Given the description of an element on the screen output the (x, y) to click on. 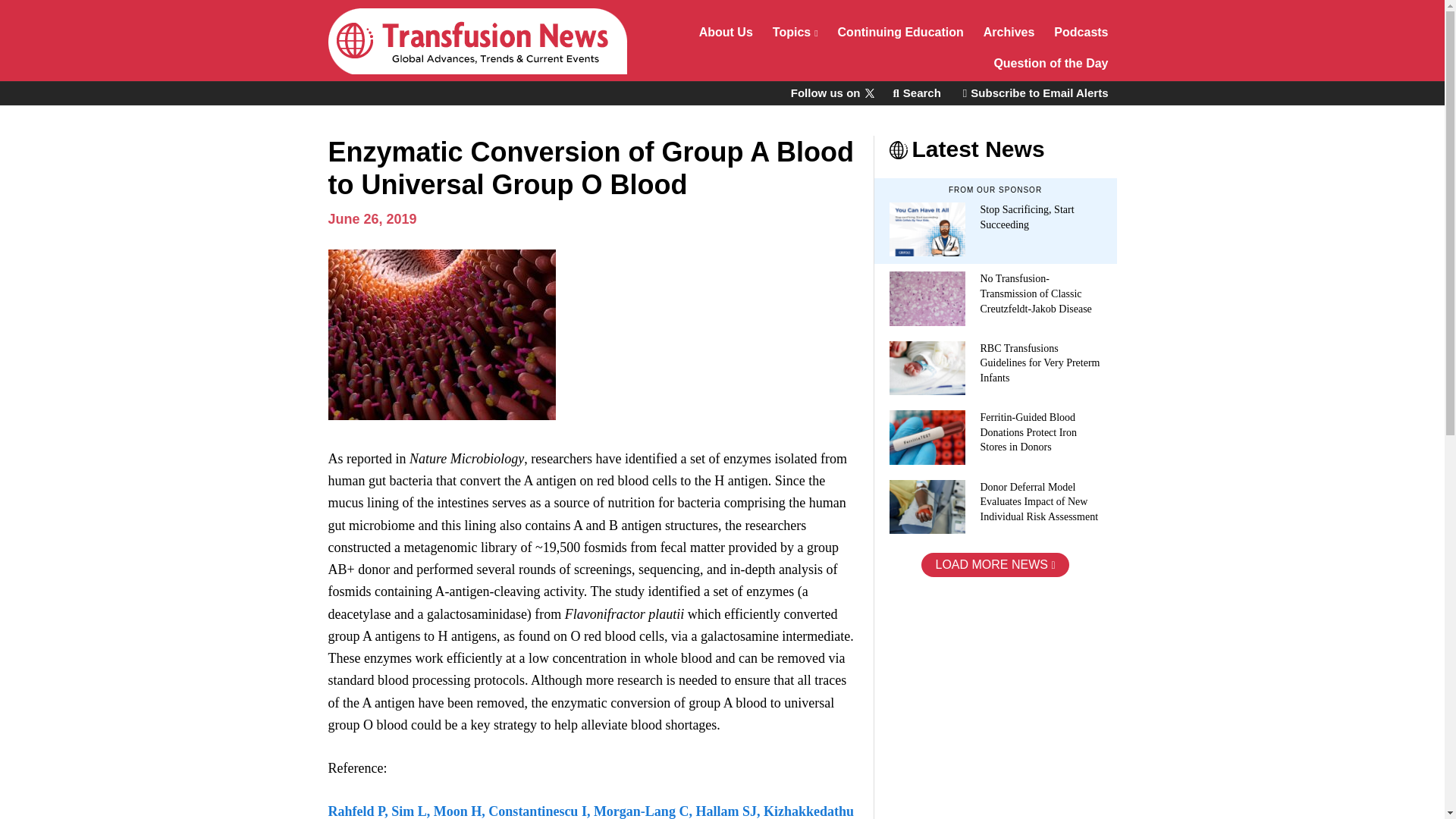
Continuing Education (900, 33)
About Us (725, 33)
Archives (1009, 33)
3rd party ad content (986, 698)
Podcasts (1080, 33)
Transfusion News (476, 41)
Question of the Day (1050, 65)
Topics (795, 33)
Search (915, 93)
Subscribe to Email Alerts (1035, 93)
Follow us on (831, 92)
